Given the description of an element on the screen output the (x, y) to click on. 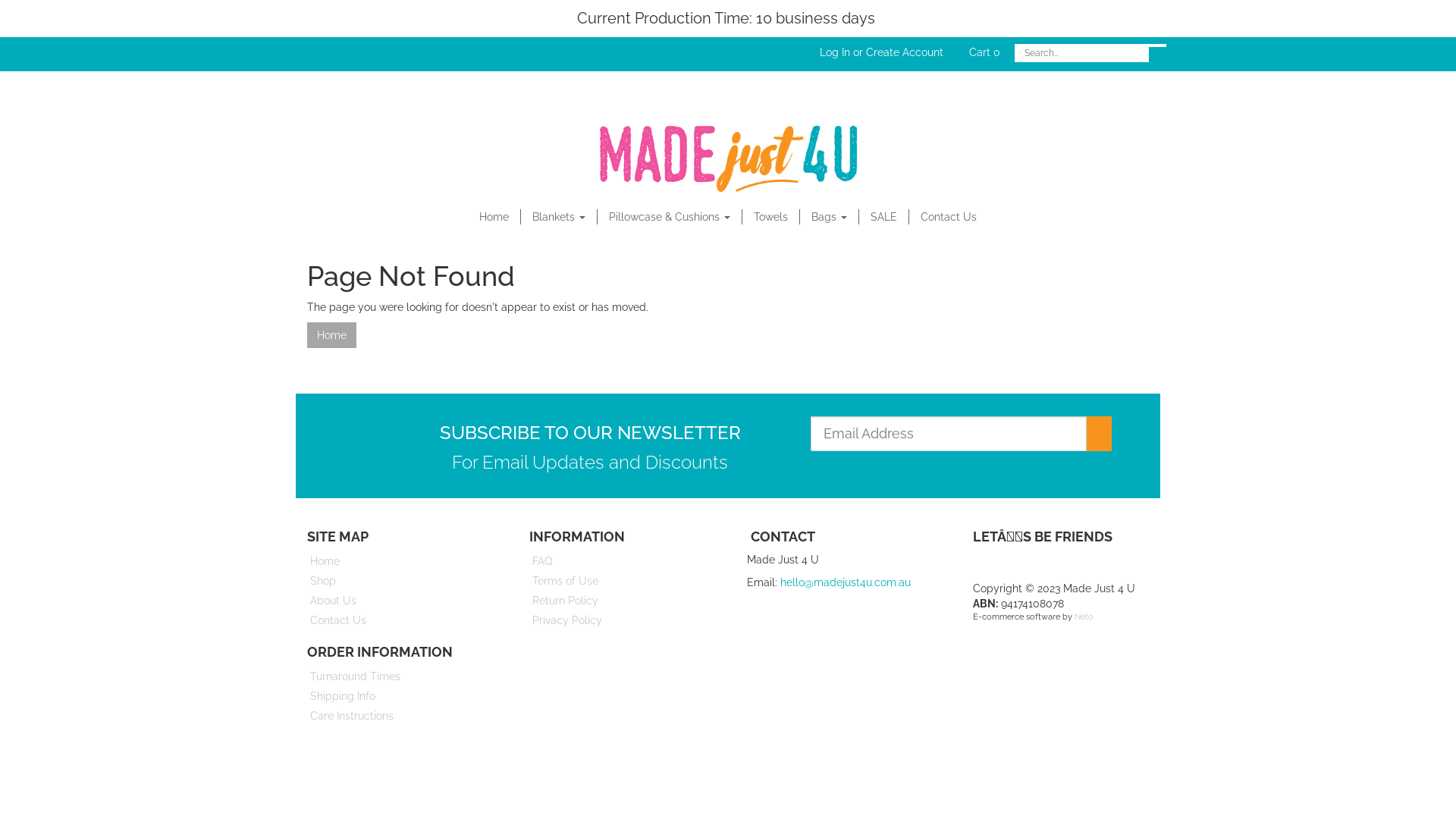
submit Element type: text (1098, 433)
hello@madejust4u.com.au Element type: text (845, 582)
Pillowcase & Cushions Element type: text (669, 216)
Cart 0 Element type: text (984, 51)
Made Just 4 U Element type: hover (727, 153)
Bags Element type: text (829, 216)
Return Policy Element type: text (622, 600)
Privacy Policy Element type: text (622, 620)
Terms of Use Element type: text (622, 580)
Contact Us Element type: text (948, 216)
Home Element type: text (331, 335)
About Us Element type: text (400, 600)
SALE Element type: text (884, 216)
Home Element type: text (400, 561)
Blankets Element type: text (558, 216)
Shop Element type: text (400, 580)
Log In or Create Account Element type: text (881, 51)
Neto Element type: text (1082, 616)
Shipping Info Element type: text (400, 696)
Search Element type: text (1157, 45)
Contact Us Element type: text (400, 620)
Care Instructions Element type: text (400, 715)
Towels Element type: text (771, 216)
Home Element type: text (493, 216)
FAQ Element type: text (622, 561)
Turnaround Times Element type: text (400, 676)
